Given the description of an element on the screen output the (x, y) to click on. 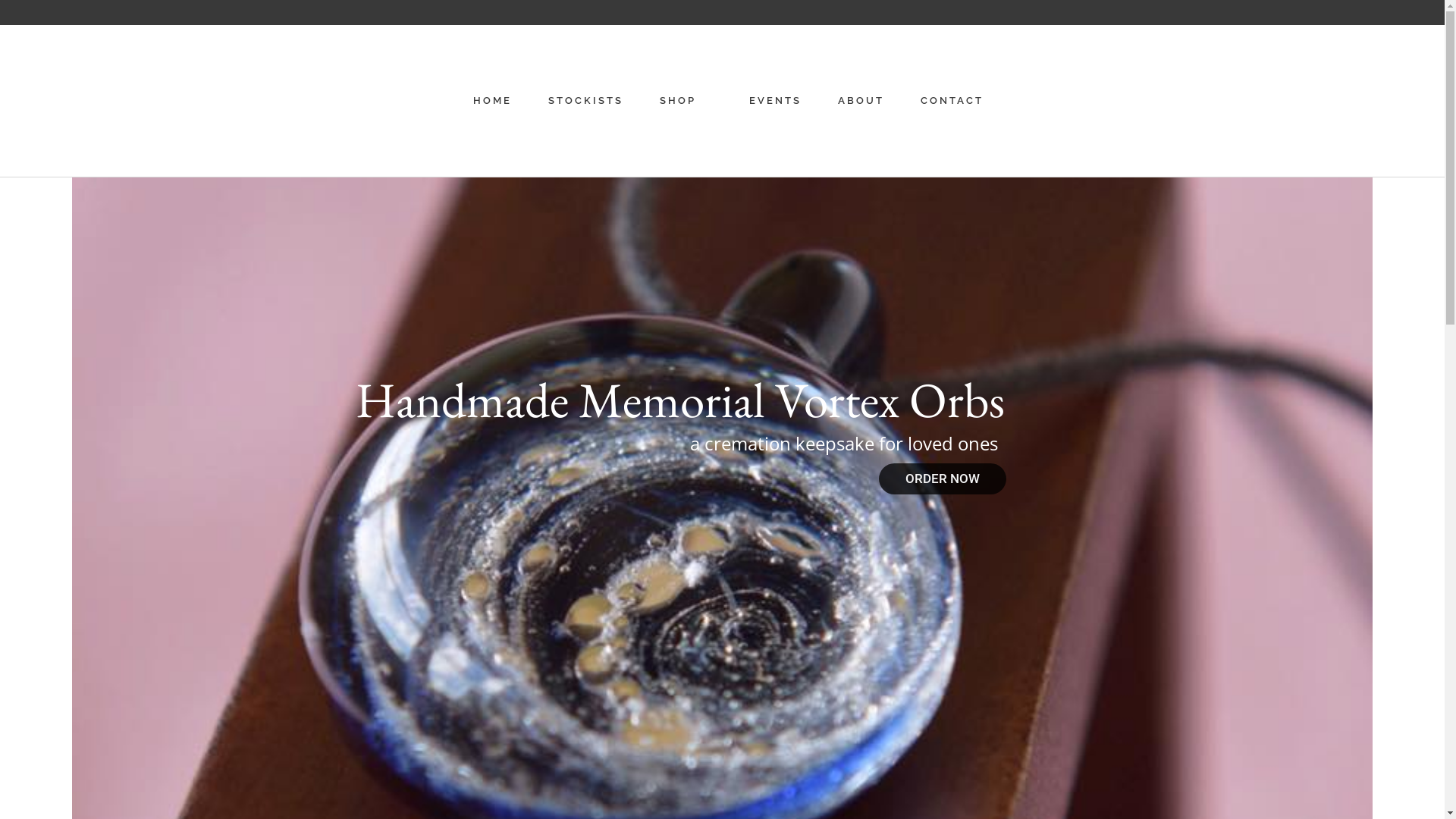
SHOP Element type: text (677, 100)
ABOUT Element type: text (860, 100)
CONTACT Element type: text (951, 100)
EVENTS Element type: text (775, 100)
HOME Element type: text (492, 100)
STOCKISTS Element type: text (584, 100)
